Given the description of an element on the screen output the (x, y) to click on. 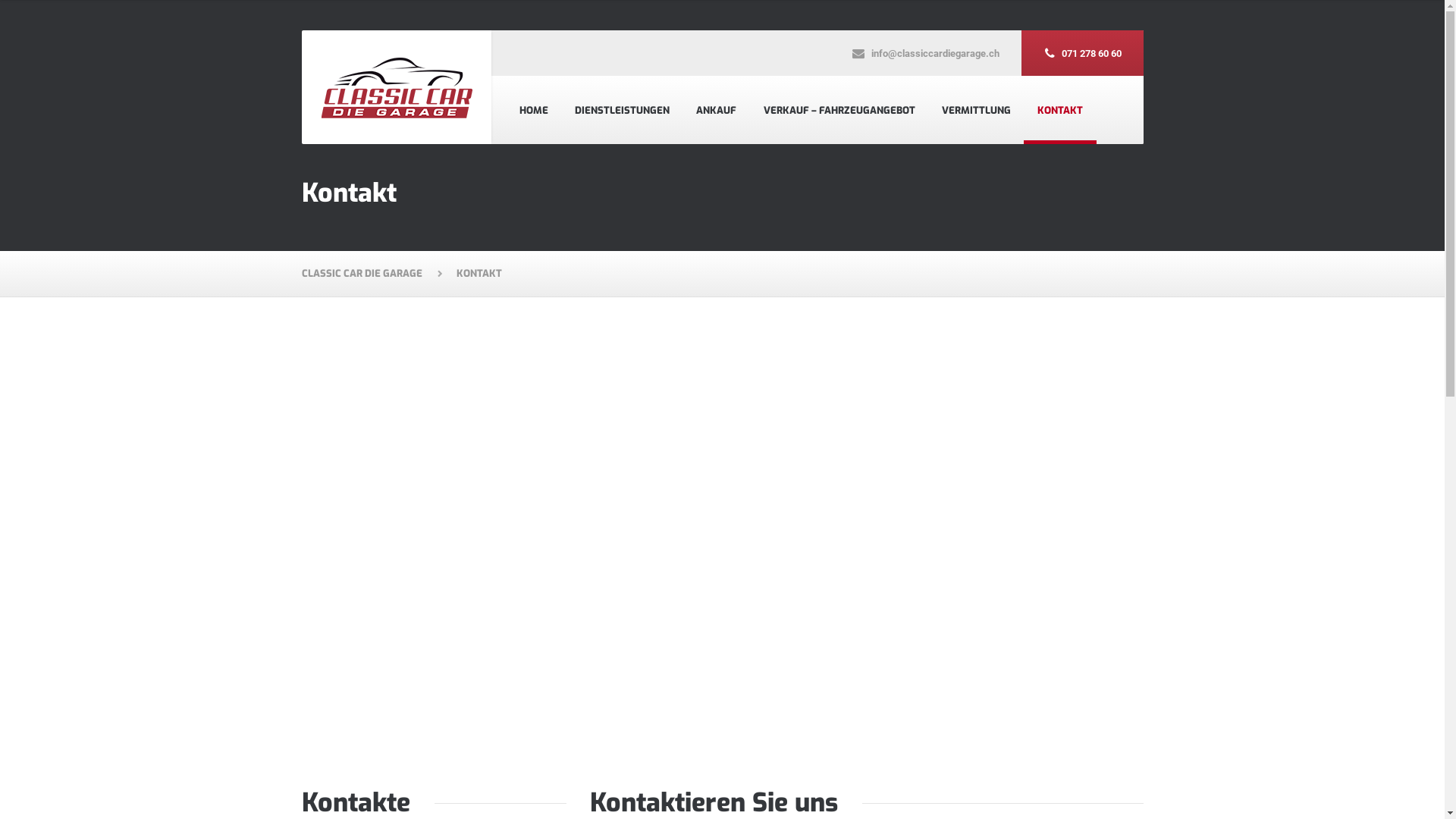
KONTAKT Element type: text (1059, 109)
VERMITTLUNG Element type: text (975, 109)
CLASSIC CAR DIE GARAGE Element type: text (371, 273)
DIENSTLEISTUNGEN Element type: text (622, 109)
071 278 60 60 Element type: text (1081, 52)
ANKAUF Element type: text (716, 109)
HOME Element type: text (533, 109)
info@classiccardiegarage.ch Element type: text (924, 52)
